Given the description of an element on the screen output the (x, y) to click on. 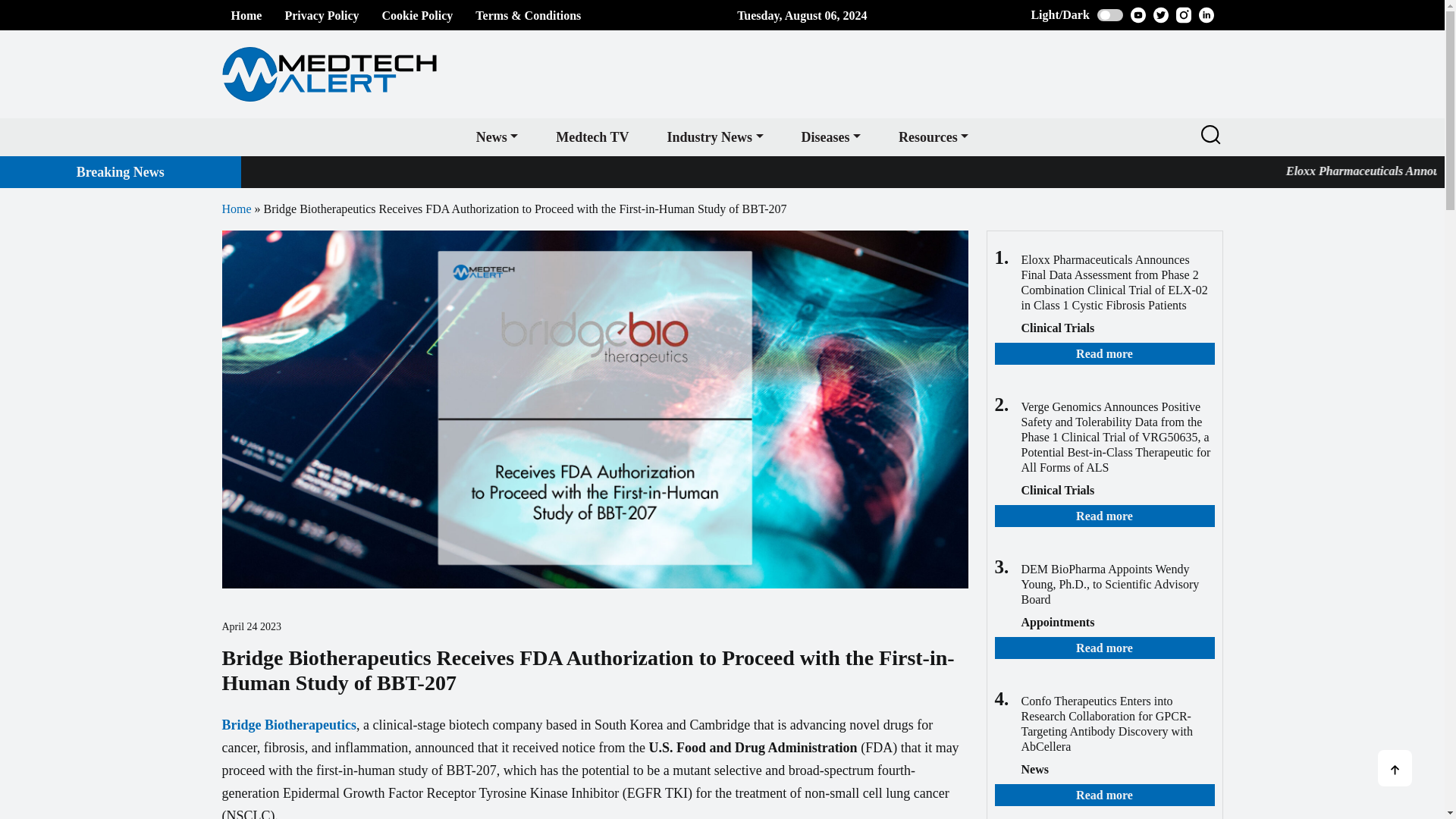
Medtech TV (592, 136)
Privacy Policy (320, 15)
Resources (933, 136)
Diseases (831, 136)
News (497, 136)
Home (246, 15)
Cookie Policy (416, 15)
Industry News (714, 136)
